Given the description of an element on the screen output the (x, y) to click on. 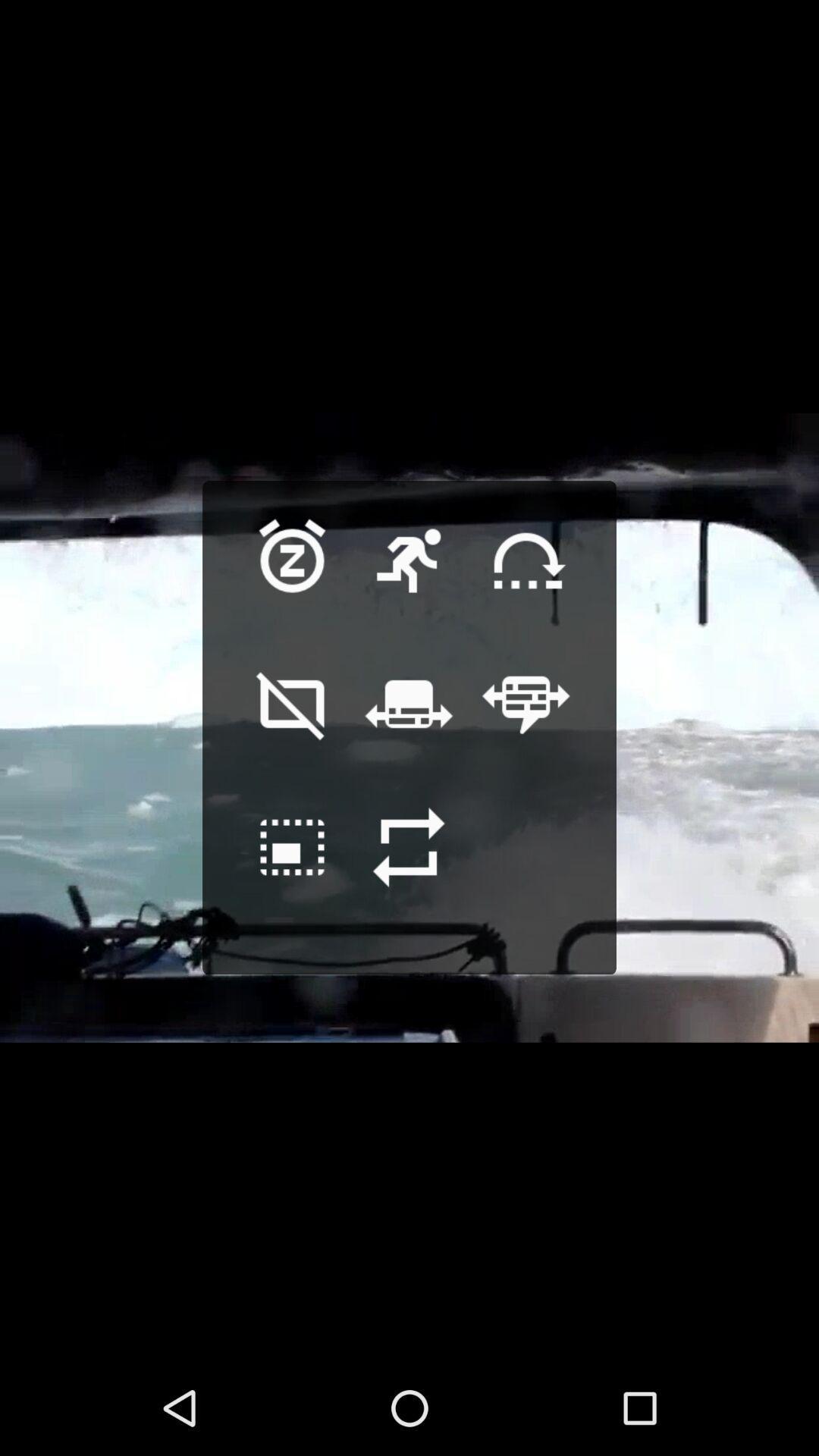
snooze the sound (292, 584)
